Given the description of an element on the screen output the (x, y) to click on. 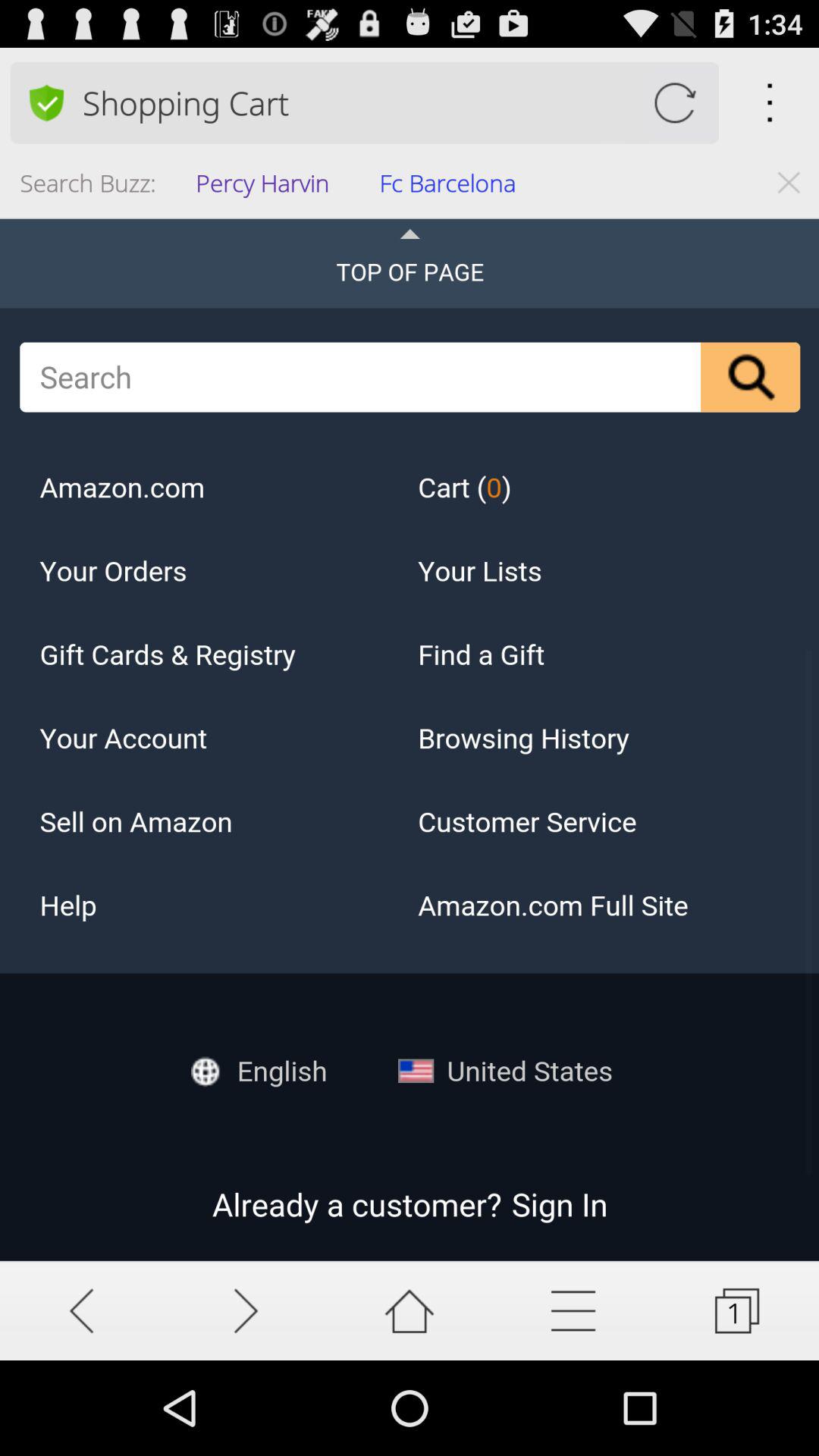
show listings (573, 1310)
